Given the description of an element on the screen output the (x, y) to click on. 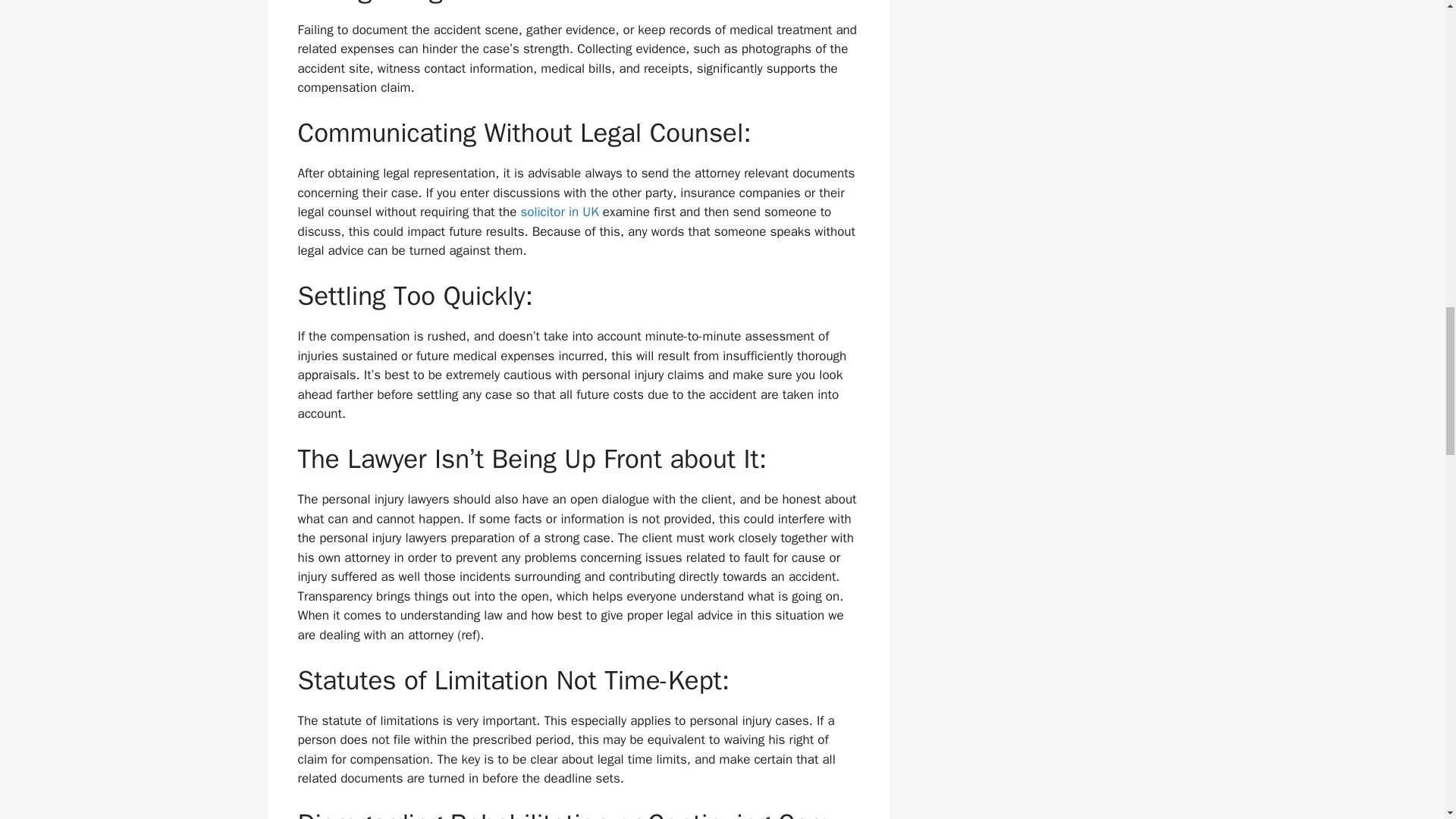
solicitor in UK (558, 211)
